Given the description of an element on the screen output the (x, y) to click on. 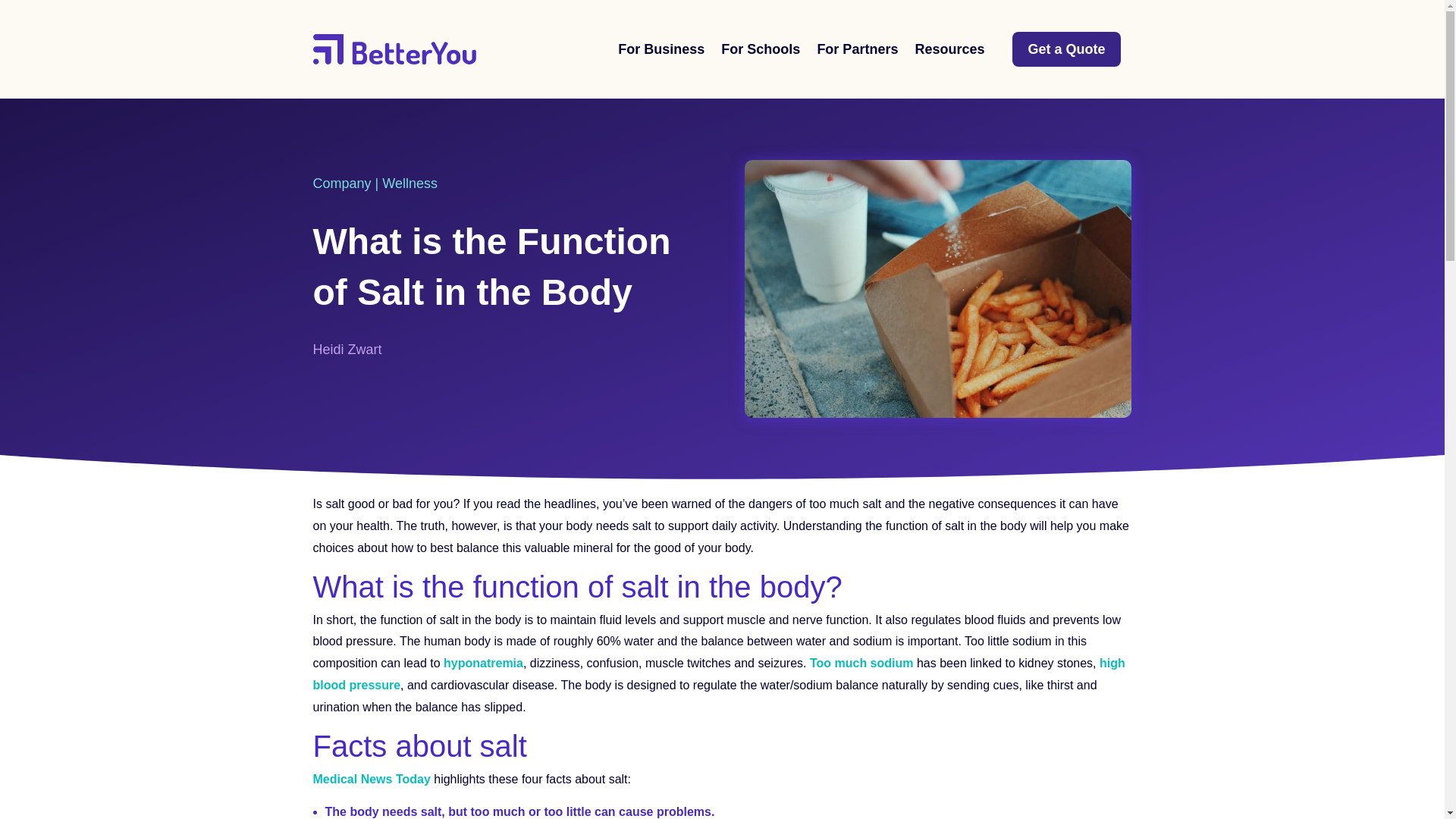
reading-betterbot (937, 288)
hyponatremia (483, 662)
high blood pressure (718, 673)
Get a Quote (1065, 48)
Resources (949, 48)
For Business (660, 48)
Medical News Today (371, 779)
Too much sodium (861, 662)
For Partners (857, 48)
Company (342, 183)
